Given the description of an element on the screen output the (x, y) to click on. 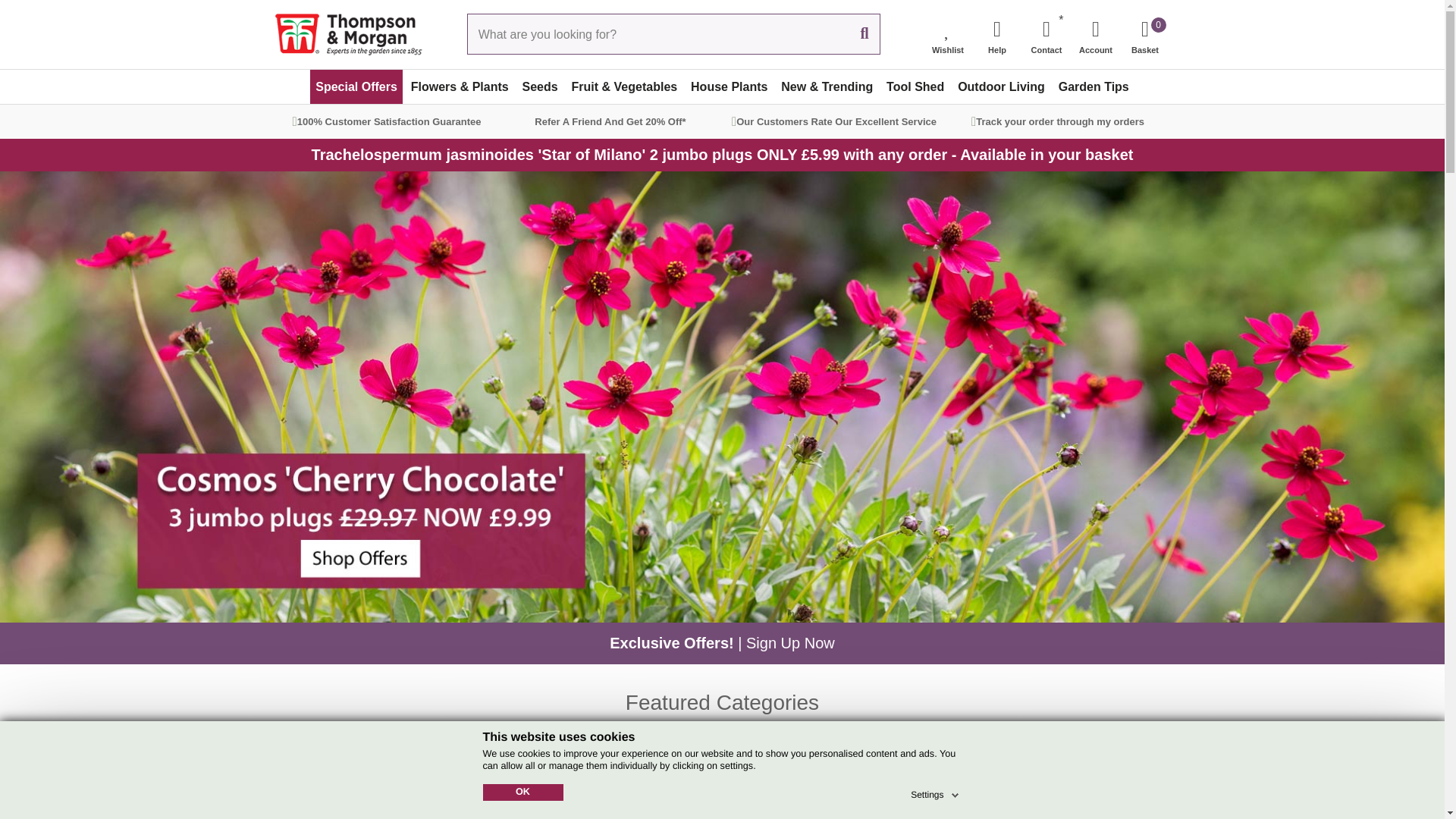
Join (1083, 782)
Settings (935, 791)
OK (521, 791)
